Given the description of an element on the screen output the (x, y) to click on. 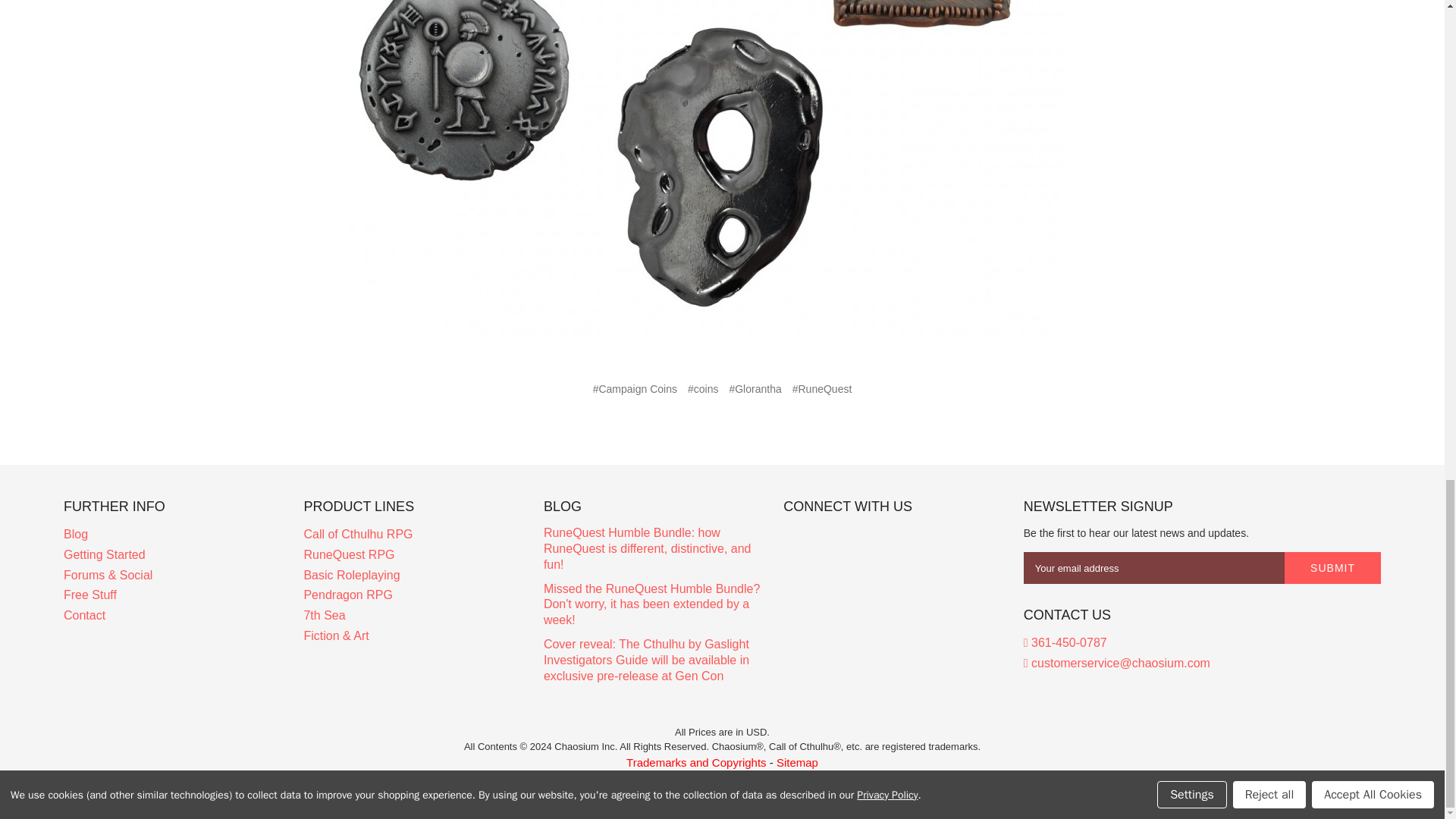
Submit (1332, 567)
